Given the description of an element on the screen output the (x, y) to click on. 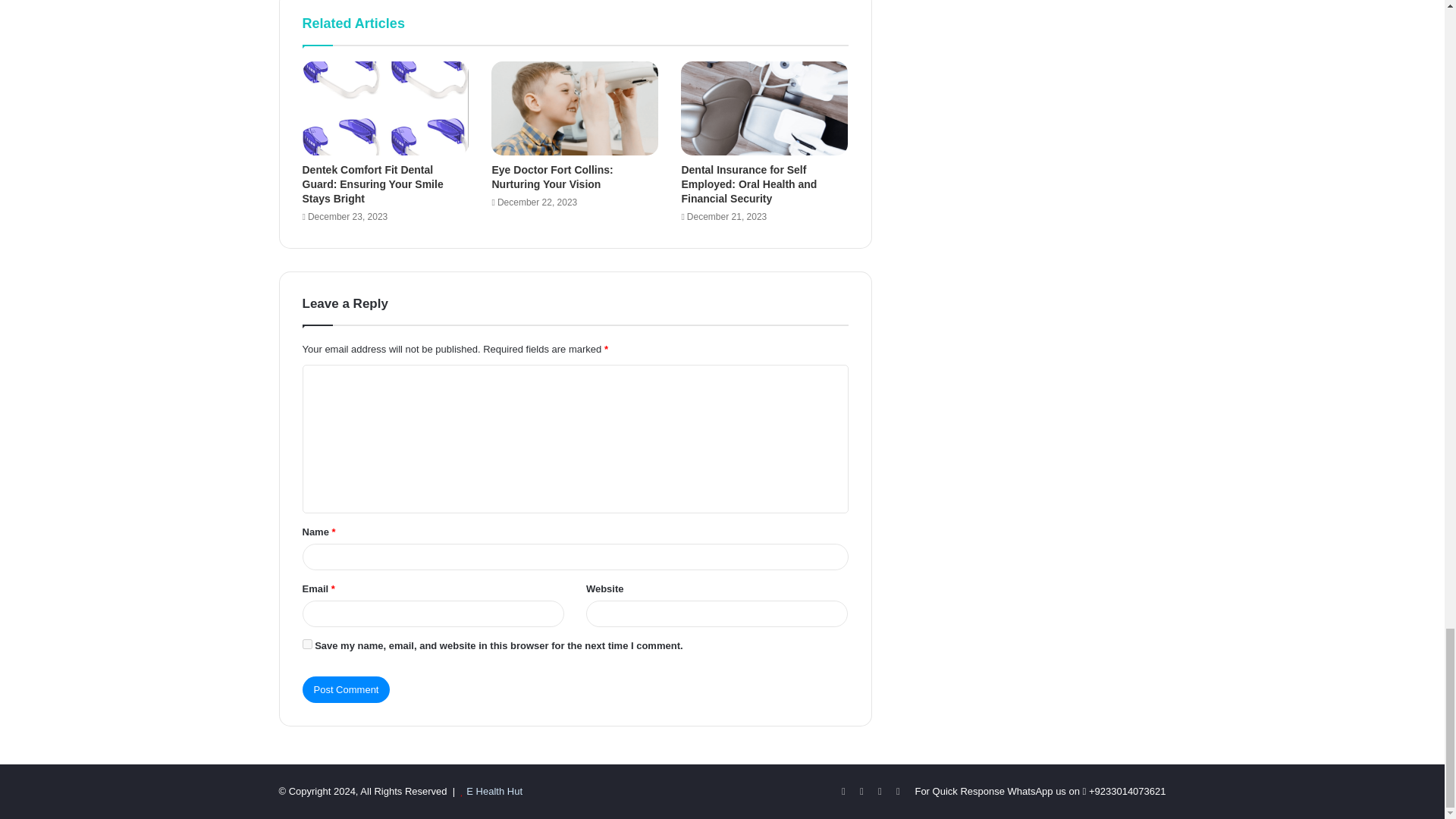
Post Comment (345, 689)
yes (306, 644)
Post Comment (345, 689)
Eye Doctor Fort Collins: Nurturing Your Vision (552, 176)
